Given the description of an element on the screen output the (x, y) to click on. 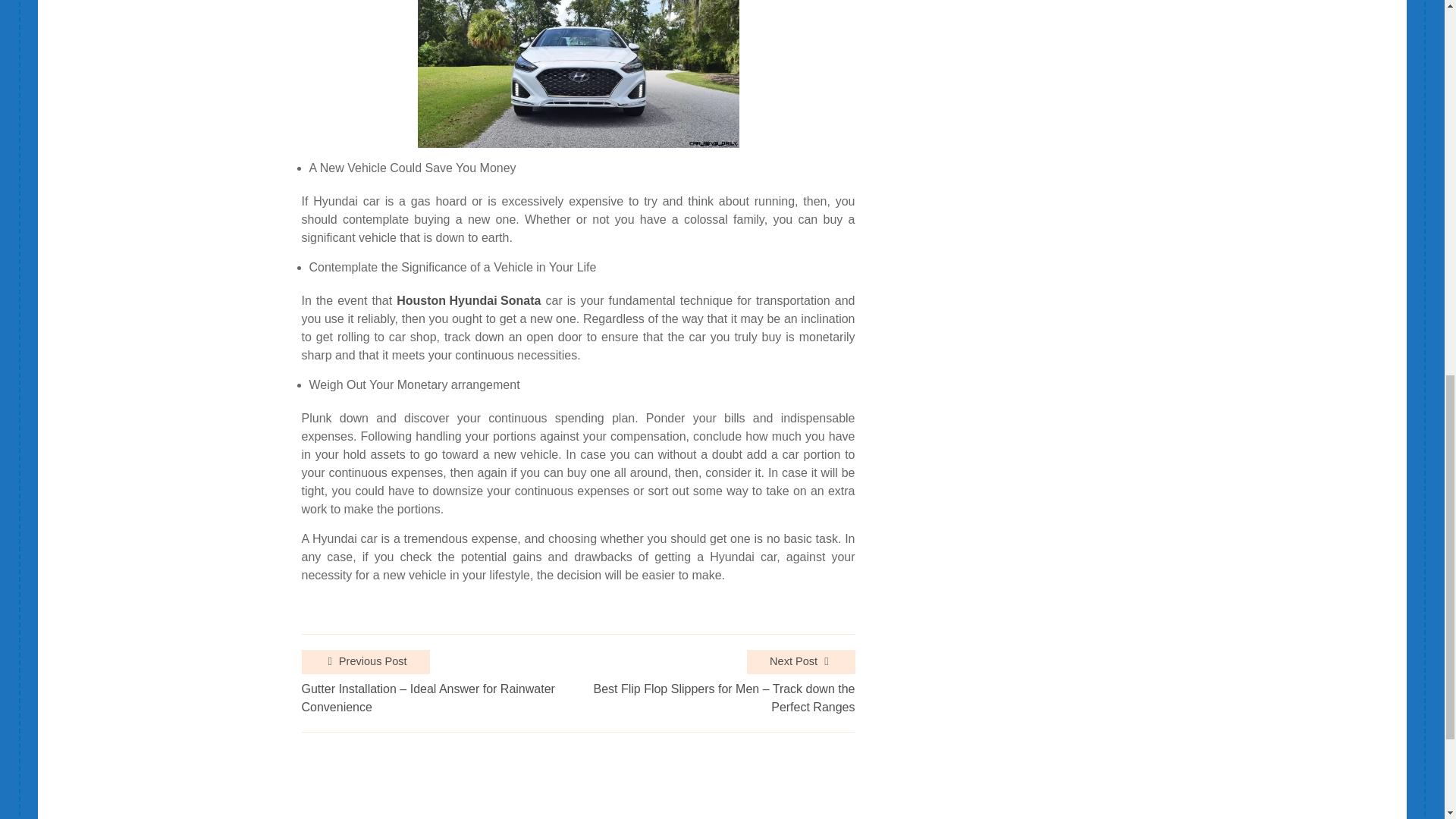
Houston Hyundai Sonata (468, 300)
Next Post (800, 662)
Previous Post (365, 662)
